Given the description of an element on the screen output the (x, y) to click on. 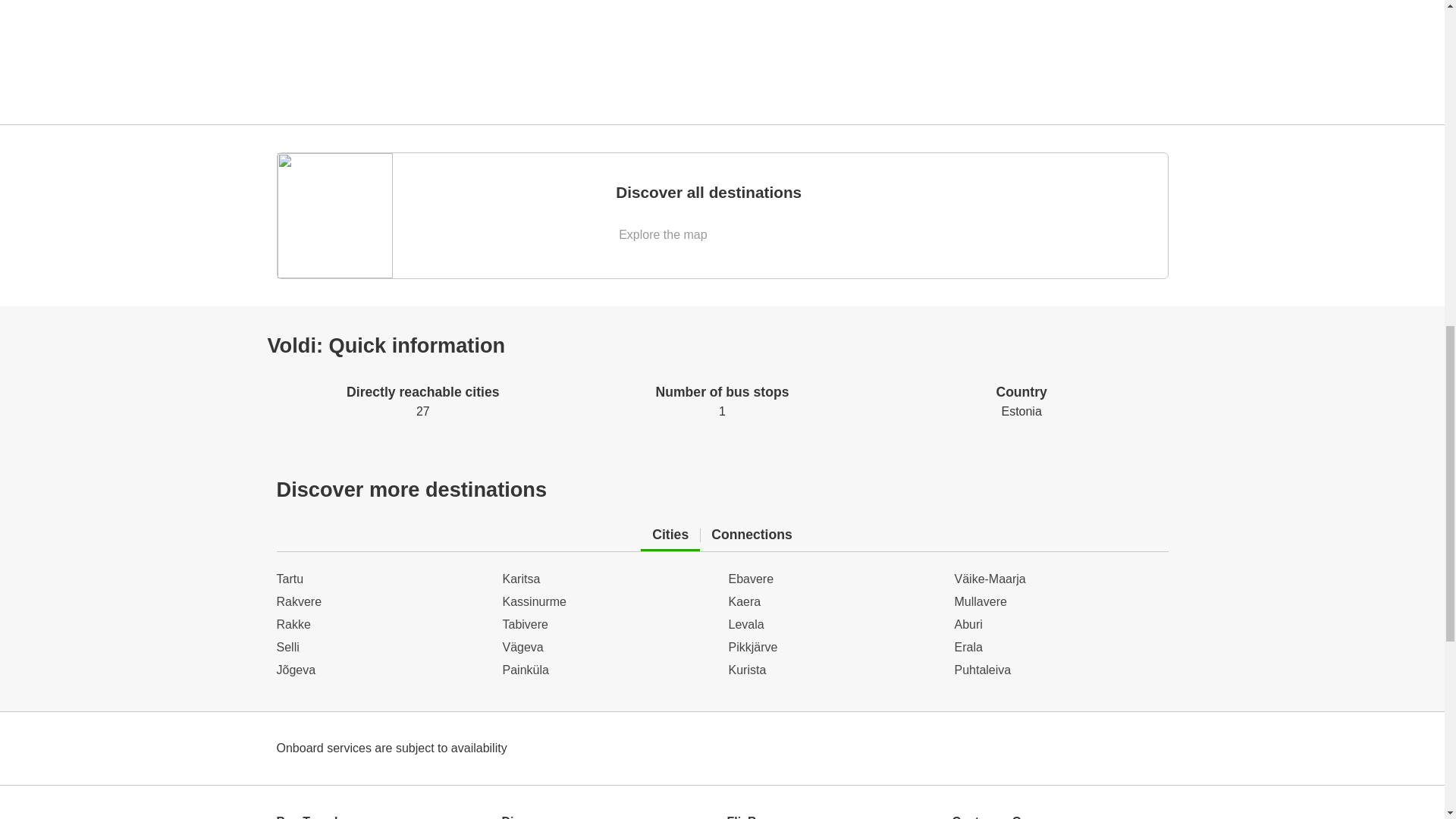
Karitsa (609, 601)
Tabivere (835, 624)
Ebavere (721, 215)
Kaera (835, 669)
Tartu (835, 579)
Kurista (382, 579)
Koonu (835, 601)
Rakke (1060, 579)
Explore the map (382, 647)
